Given the description of an element on the screen output the (x, y) to click on. 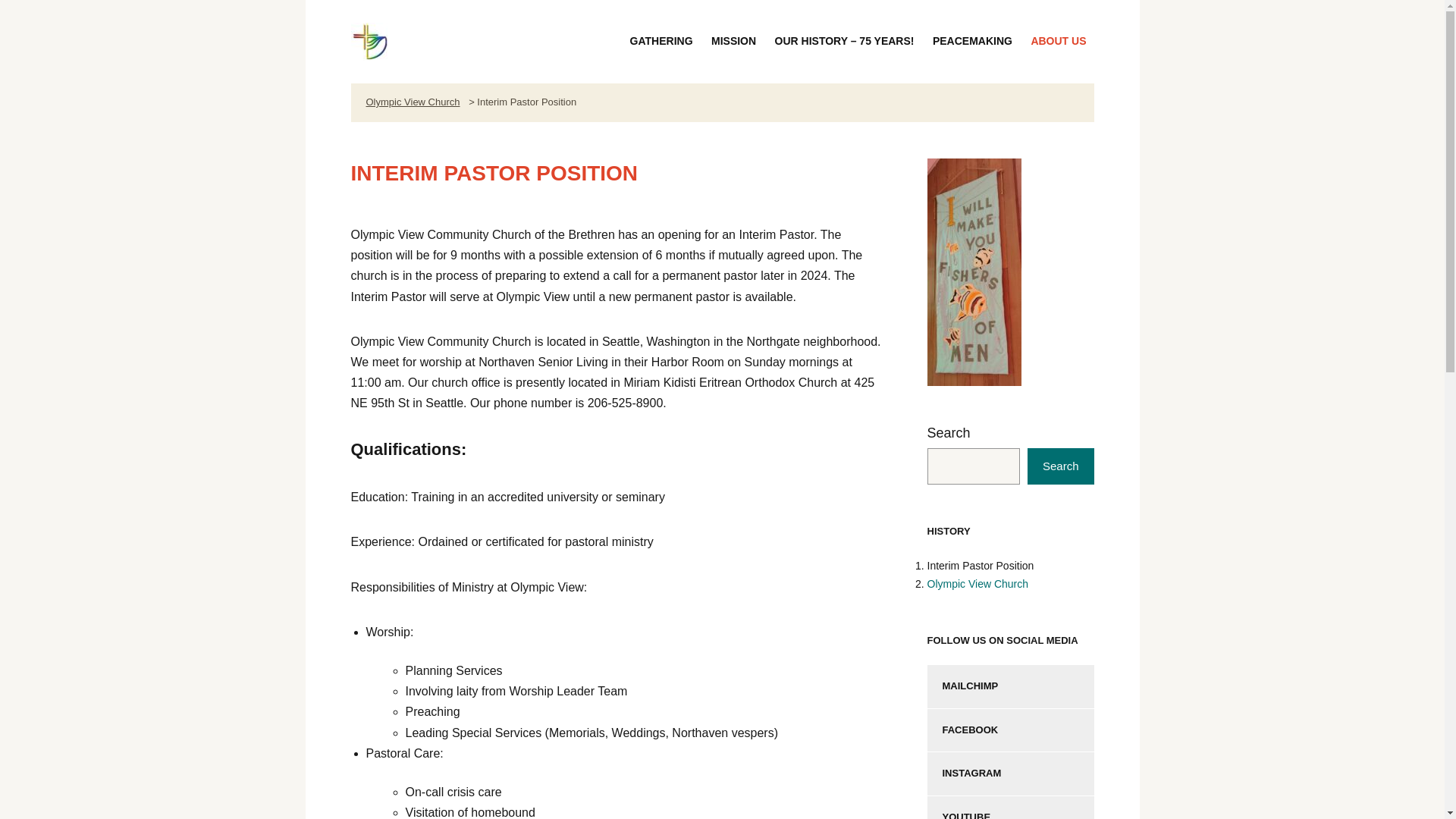
PEACEMAKING (972, 40)
Go to Olympic View Church. (412, 101)
MISSION (733, 40)
Go to Olympic View Church. (976, 583)
GATHERING (661, 40)
